Given the description of an element on the screen output the (x, y) to click on. 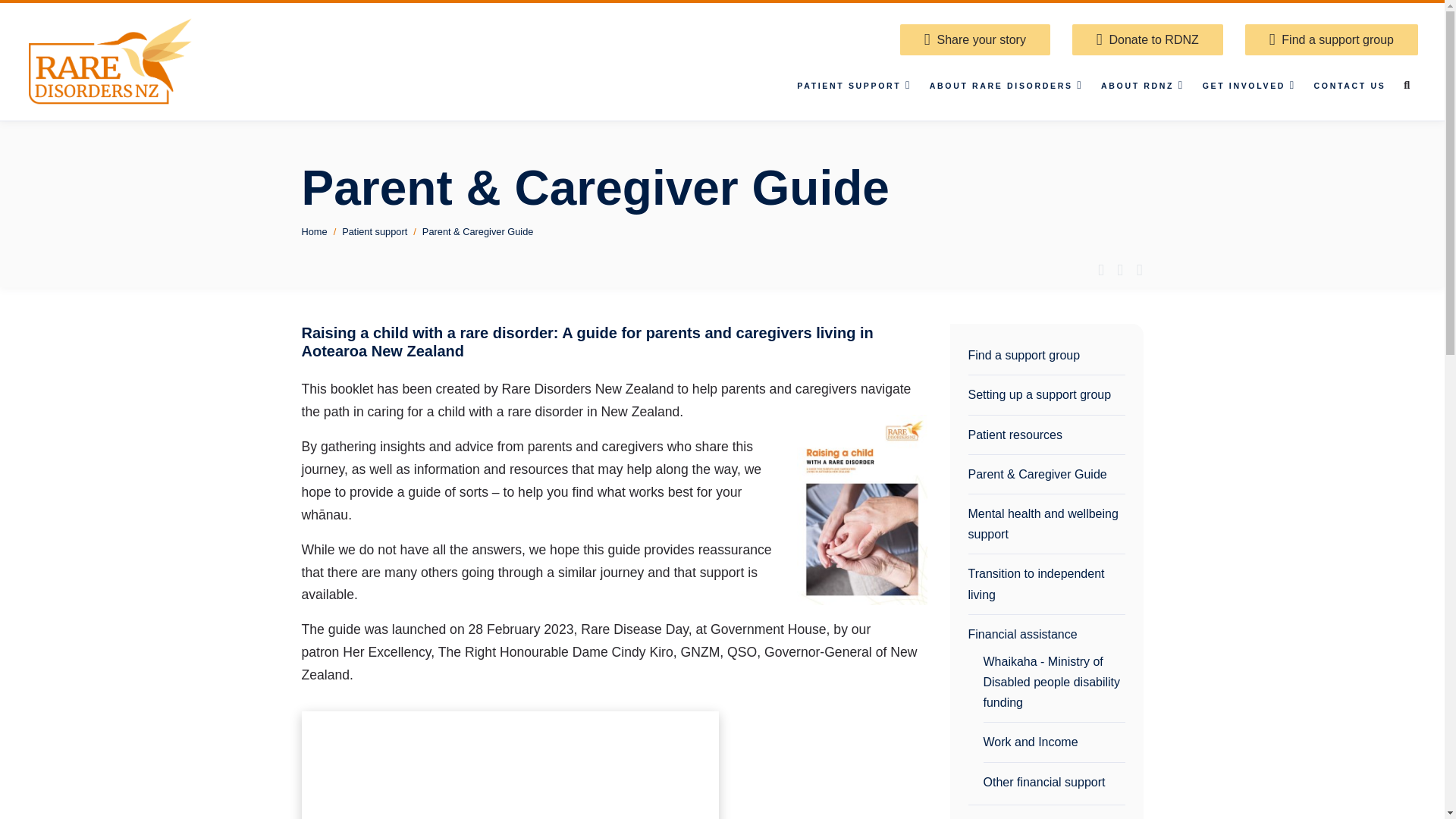
Go to the Find a support group page (1046, 354)
Go to the Patient resources page (1046, 435)
ABOUT RARE DISORDERS (1006, 86)
  Find a support group (1331, 39)
Go to the Transition to independent living page (1046, 583)
PATIENT SUPPORT (853, 86)
  Share your story (974, 39)
Go to the Mental health and wellbeing support page (1046, 523)
Go to the Advocating for yourself and others page (1046, 816)
ABOUT RDNZ (1142, 86)
GET INVOLVED (1248, 86)
Go to Home Page (112, 61)
  Donate to RDNZ (1147, 39)
Go to the  Work and Income page (1053, 742)
